Given the description of an element on the screen output the (x, y) to click on. 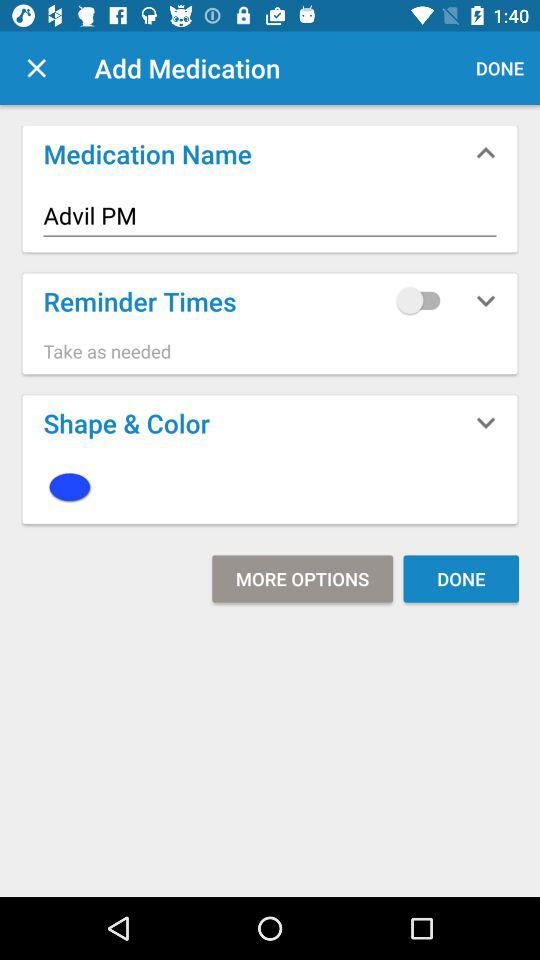
tap advil pm icon (269, 216)
